Given the description of an element on the screen output the (x, y) to click on. 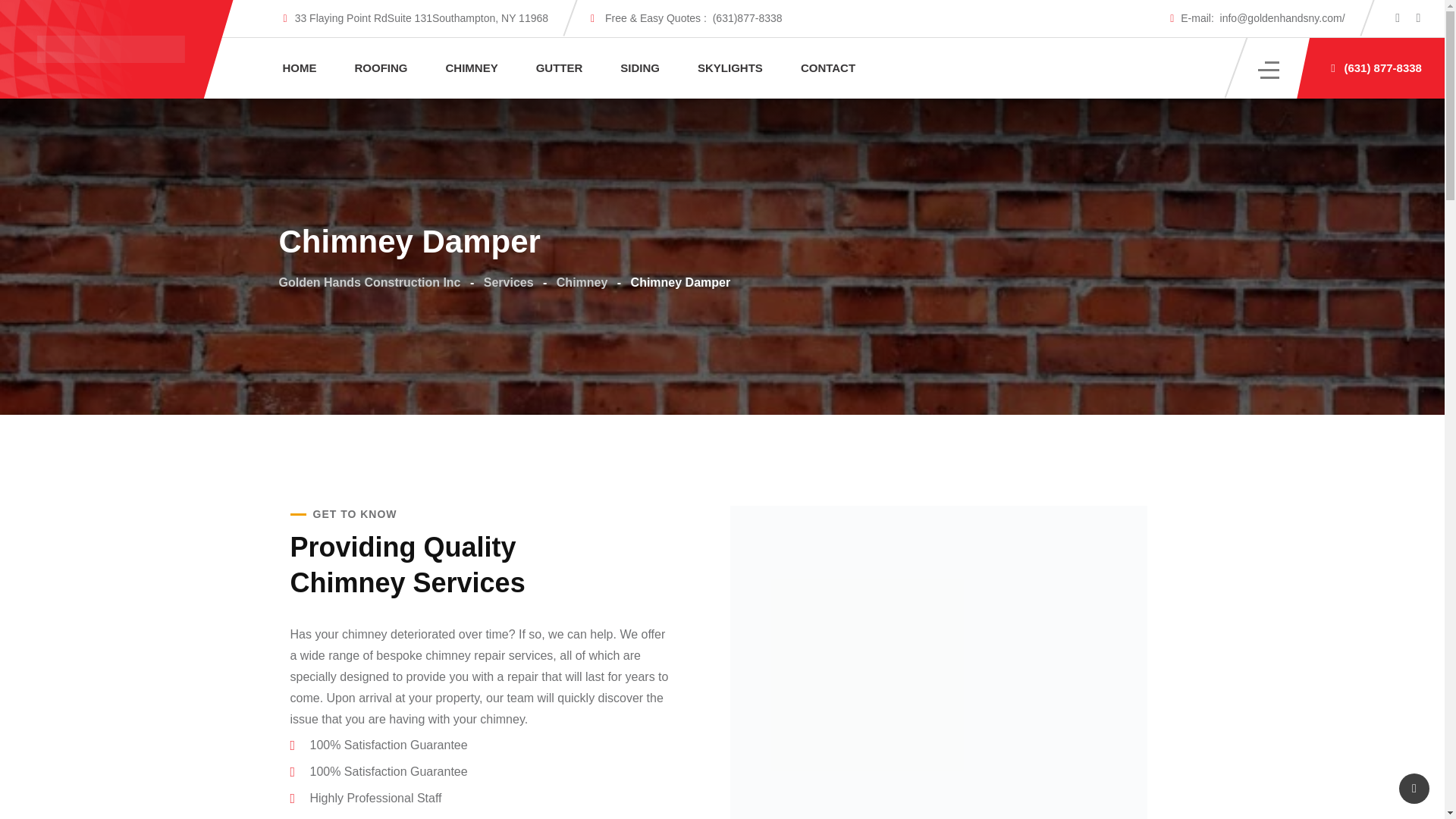
Go to Golden Hands Construction Inc. (370, 282)
Go to Services. (508, 282)
Go to the Chimney Services Category archives. (582, 282)
Chimney Damper (938, 662)
